Given the description of an element on the screen output the (x, y) to click on. 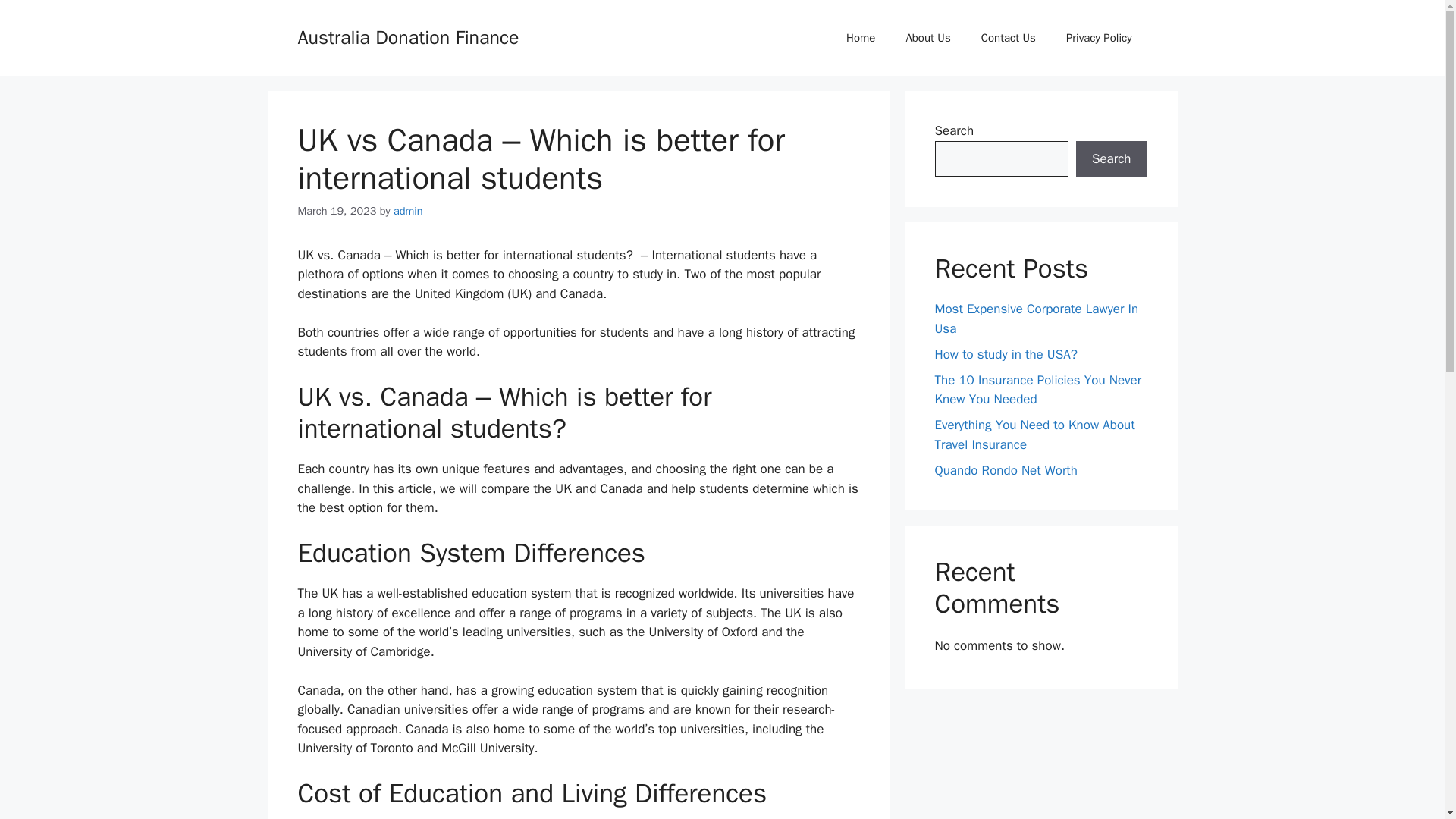
Everything You Need to Know About Travel Insurance (1034, 434)
Search (1111, 158)
Australia Donation Finance (407, 37)
How to study in the USA? (1005, 353)
About Us (927, 37)
View all posts by admin (408, 210)
admin (408, 210)
Contact Us (1008, 37)
The 10 Insurance Policies You Never Knew You Needed (1037, 389)
Most Expensive Corporate Lawyer In Usa (1036, 318)
Home (860, 37)
Privacy Policy (1099, 37)
Quando Rondo Net Worth  (1007, 470)
